Given the description of an element on the screen output the (x, y) to click on. 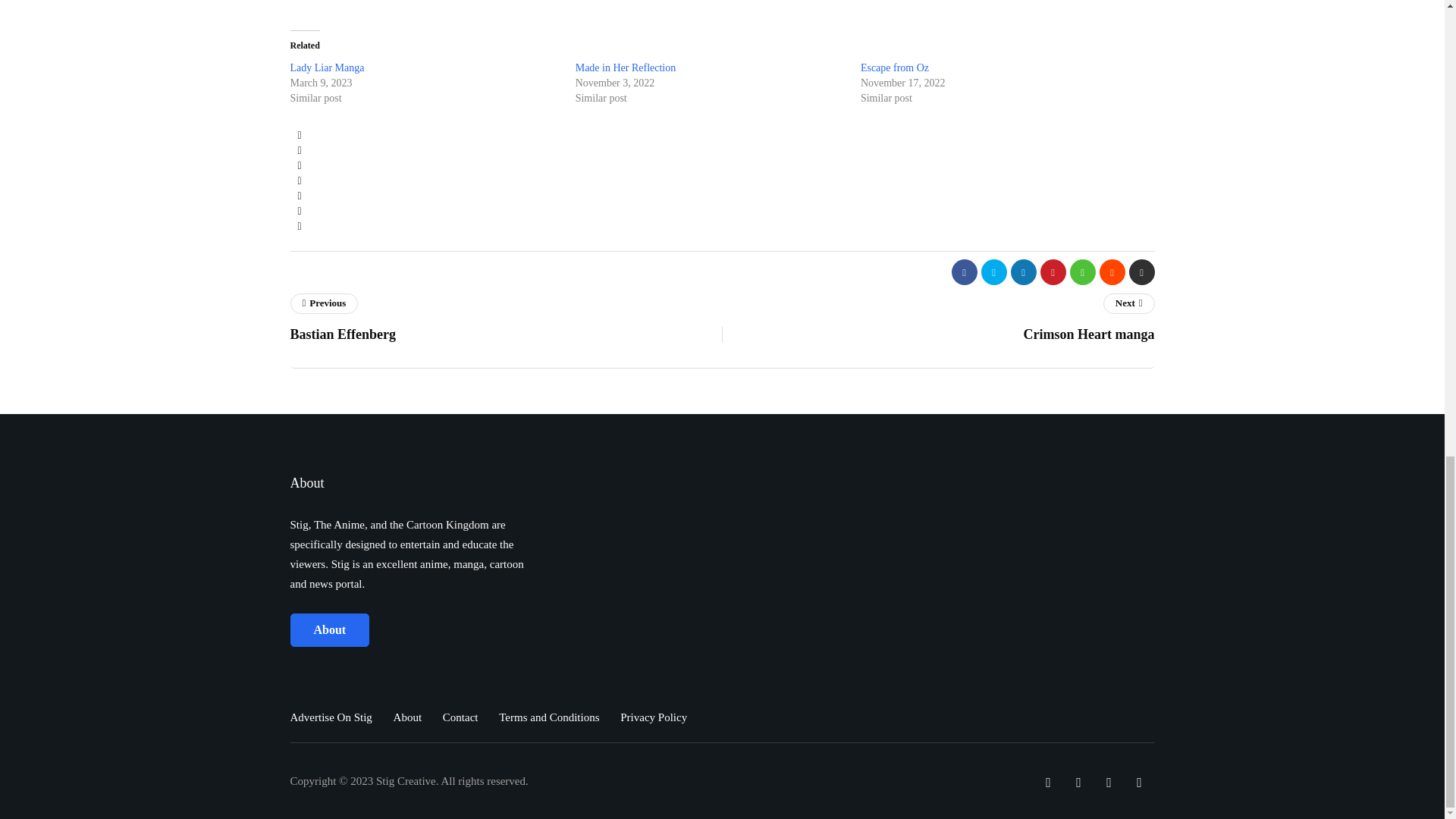
Escape from Oz (894, 67)
Made in Her Reflection (626, 67)
Lady Liar Manga (326, 67)
Share with LinkedIn (298, 165)
Share to WhatsApp (298, 196)
Share with Facebook (298, 135)
Tweet this (298, 150)
Share on Reddit (298, 211)
Pin this (298, 181)
